Given the description of an element on the screen output the (x, y) to click on. 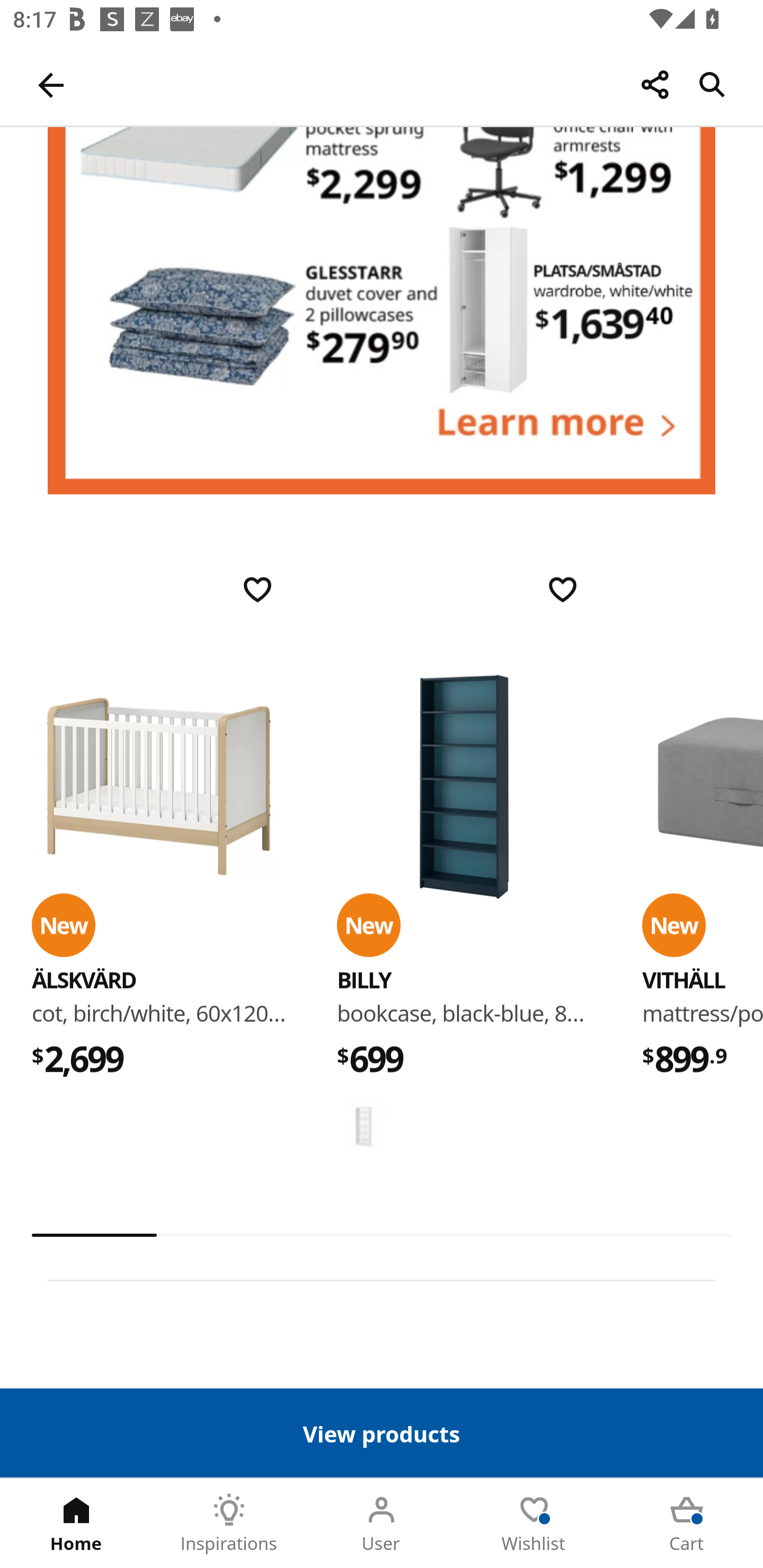
newitems#shop-now (381, 311)
ÄLSKVÄRD (159, 787)
BILLY (464, 787)
ÄLSKVÄRD (84, 979)
BILLY (363, 979)
VITHÄLL (683, 979)
BILLY (363, 1127)
0.0 (381, 1235)
View products (381, 1432)
Home
Tab 1 of 5 (76, 1522)
Inspirations
Tab 2 of 5 (228, 1522)
User
Tab 3 of 5 (381, 1522)
Wishlist
Tab 4 of 5 (533, 1522)
Cart
Tab 5 of 5 (686, 1522)
